Given the description of an element on the screen output the (x, y) to click on. 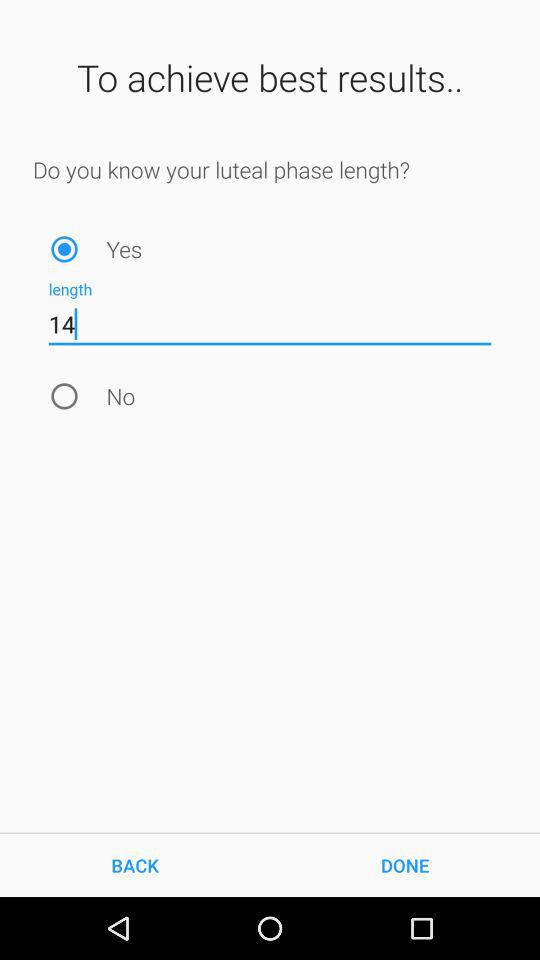
turn on item to the left of the yes icon (64, 248)
